Given the description of an element on the screen output the (x, y) to click on. 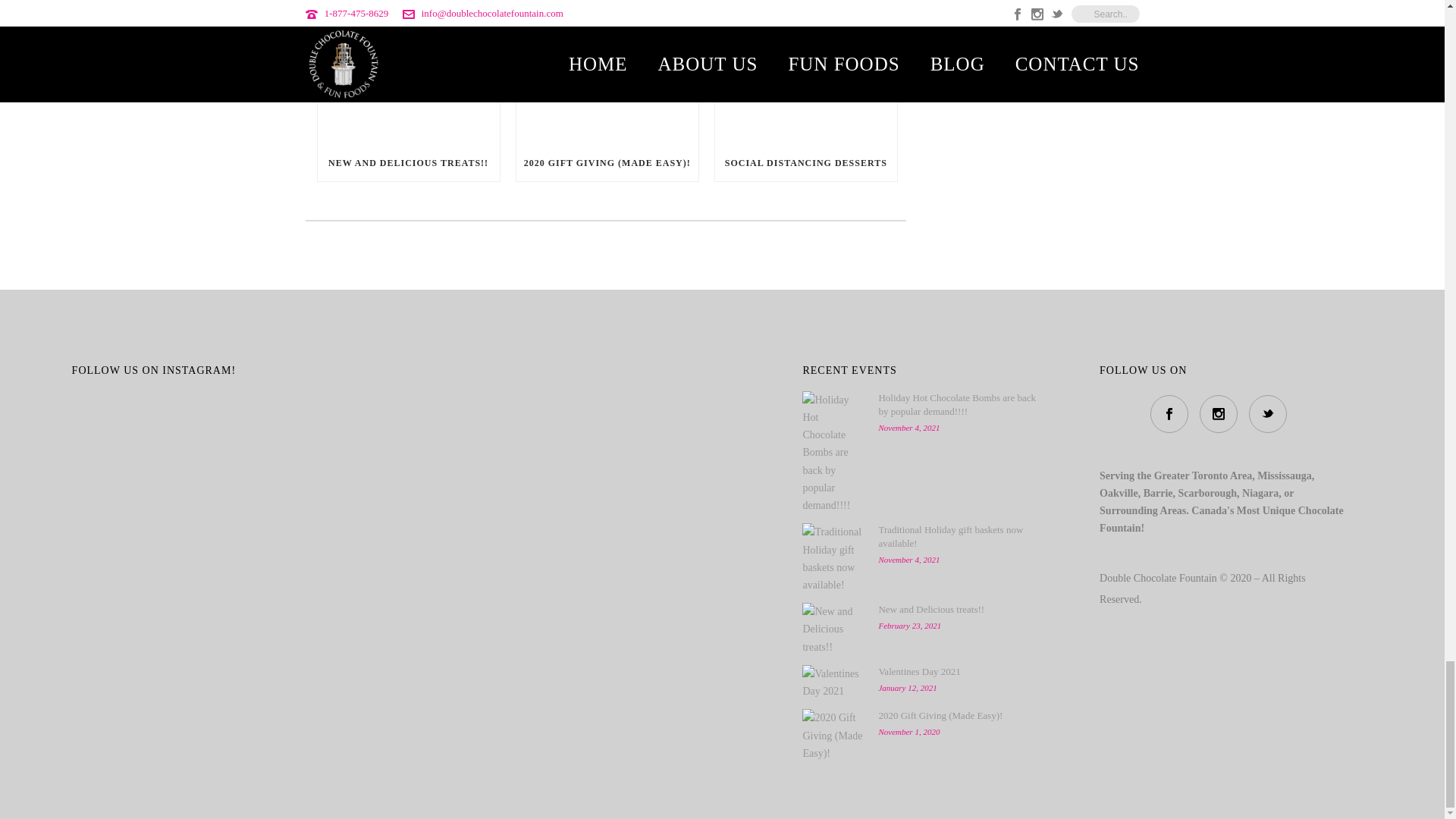
Follow Us on instagram (1218, 413)
Social Distancing Desserts (805, 72)
Follow Us on facebook (1169, 413)
Valentines Day 2021 (832, 682)
Follow Us on twitter (1268, 413)
New and Delicious treats!! (408, 72)
NEW AND DELICIOUS TREATS!! (408, 162)
New and Delicious treats!! (832, 629)
